Given the description of an element on the screen output the (x, y) to click on. 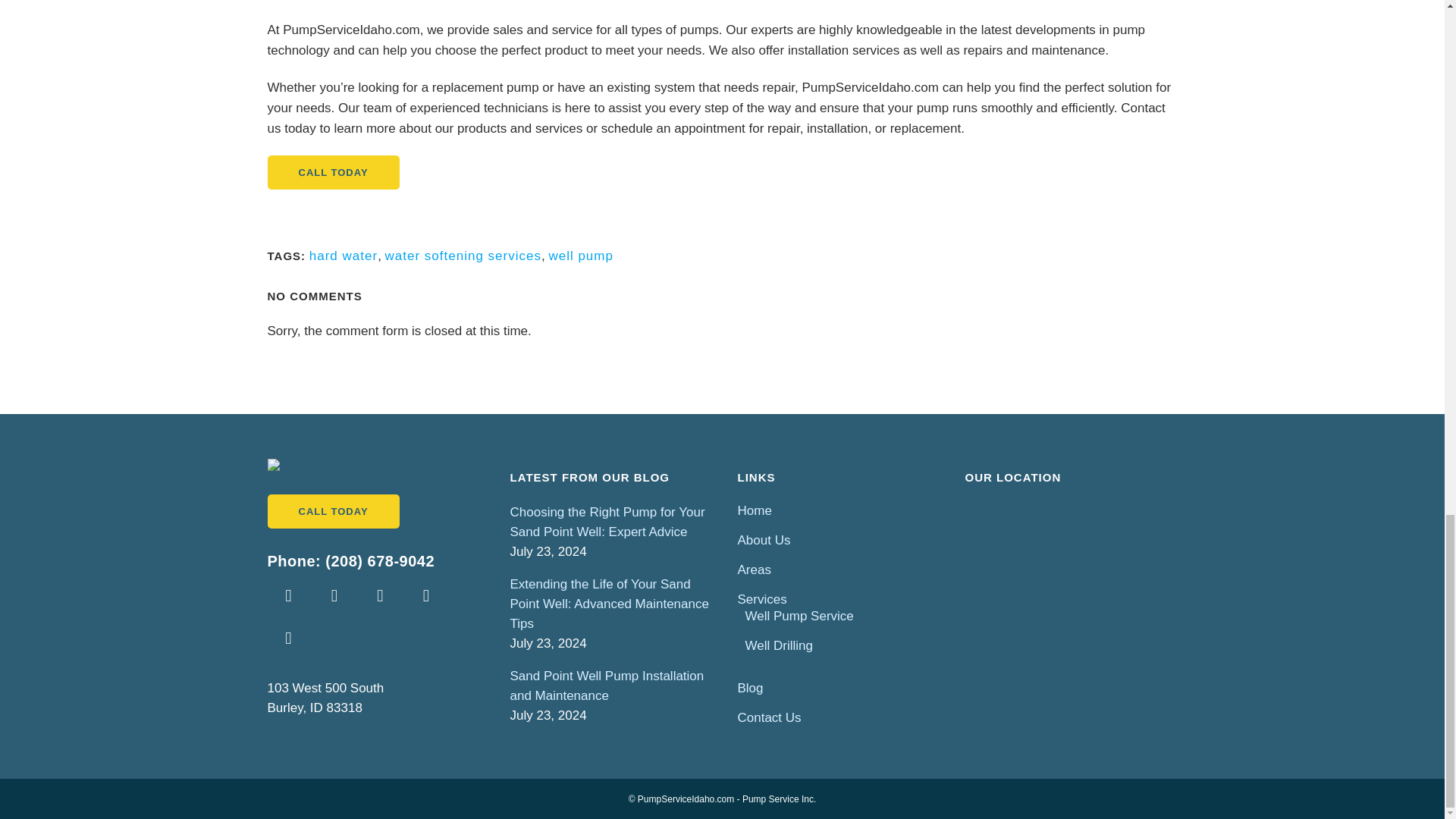
hard water (342, 255)
CALL TODAY (332, 511)
water softening services (463, 255)
CALL TODAY (332, 172)
well pump (580, 255)
Sand Point Well Pump Installation and Maintenance (611, 685)
